Given the description of an element on the screen output the (x, y) to click on. 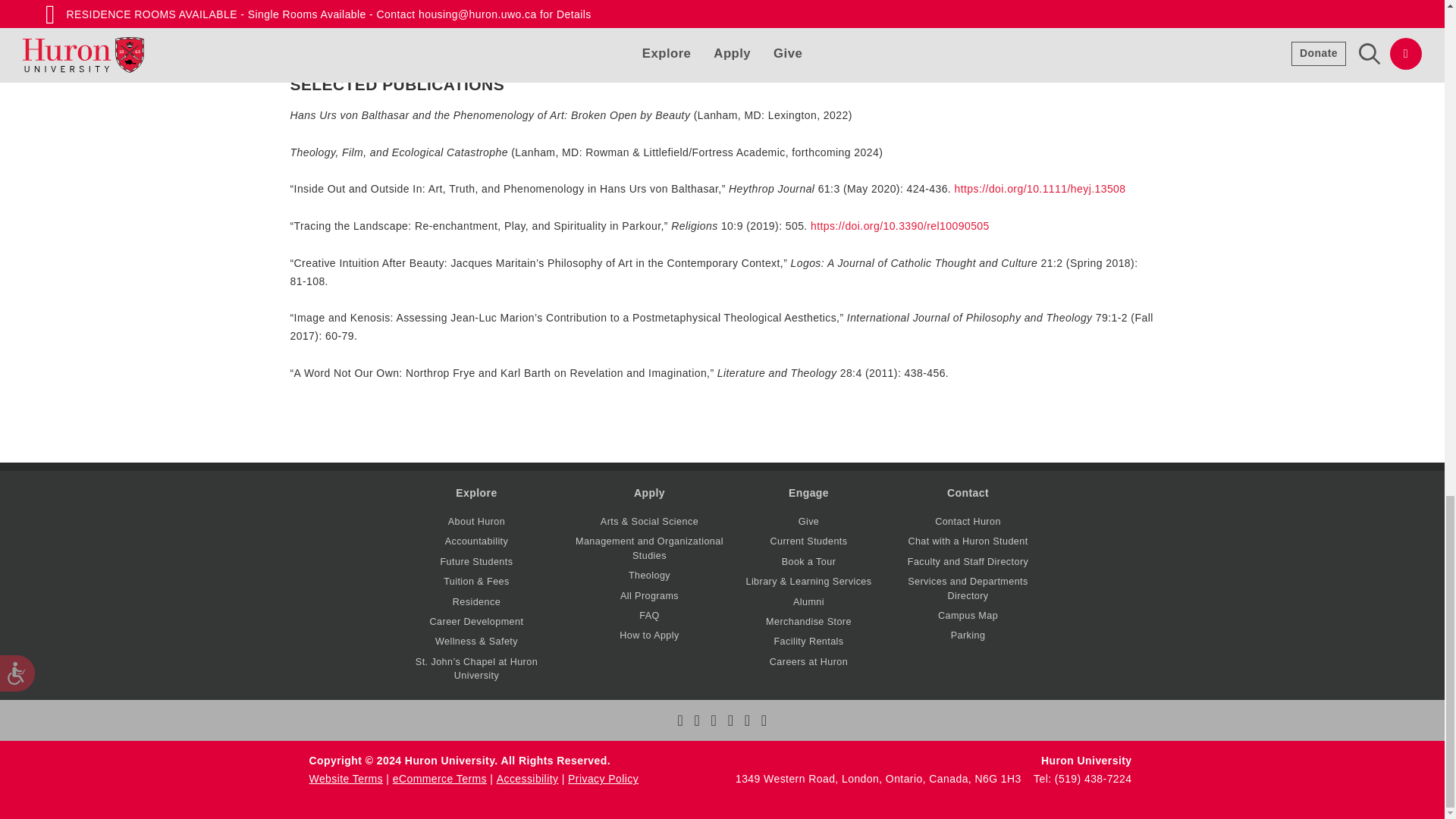
Accountability (476, 541)
Explore (475, 492)
Theology (648, 575)
About Huron (476, 521)
Future Students (475, 561)
All Programs (649, 594)
Career Development (476, 621)
Management and Organizational Studies (649, 548)
Apply (649, 492)
Residence (476, 601)
